Given the description of an element on the screen output the (x, y) to click on. 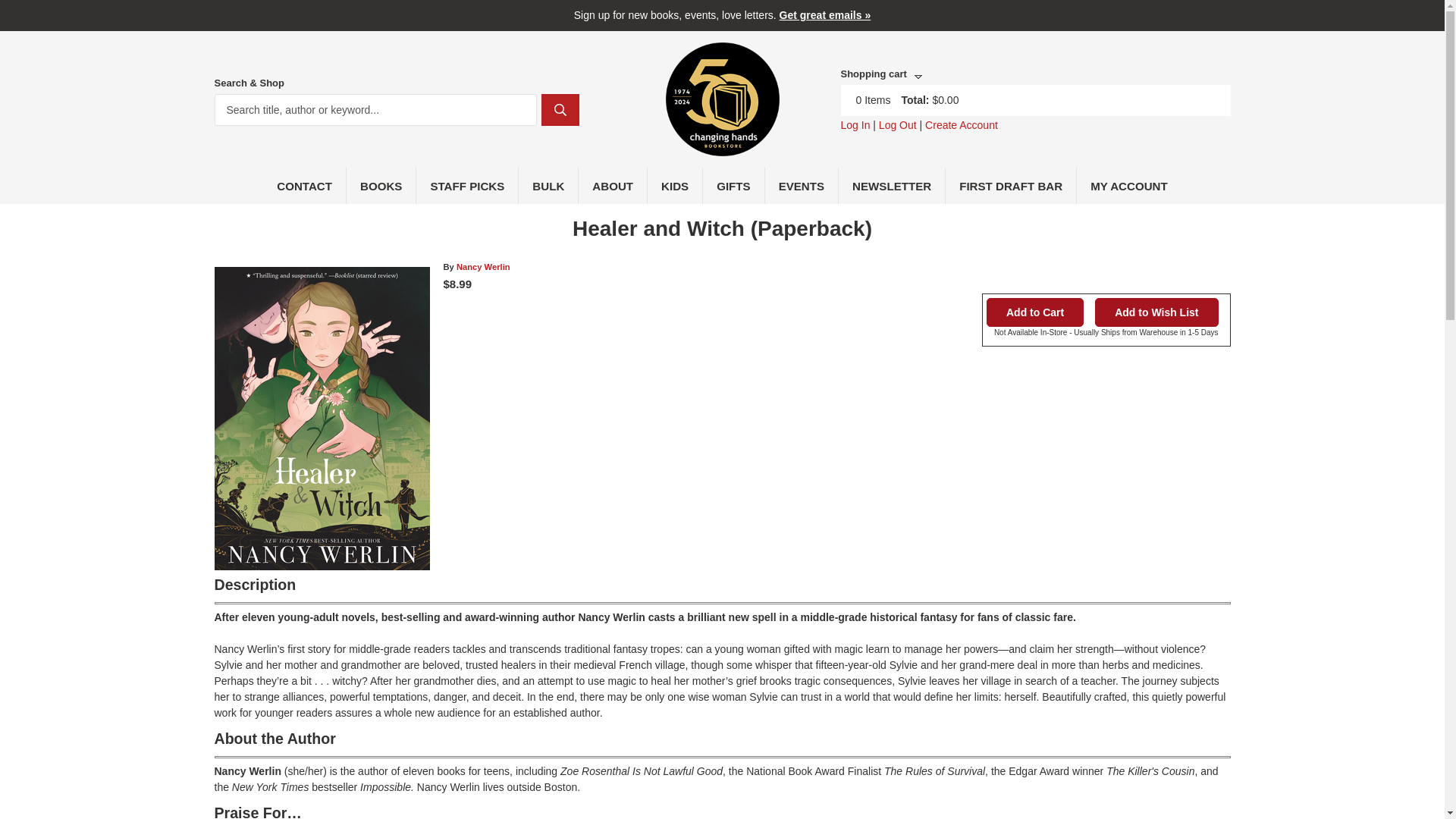
BULK (548, 185)
Home page (721, 147)
Add to Cart (1035, 312)
Log Out (898, 124)
Search (560, 110)
Log In (854, 124)
ABOUT (612, 185)
STAFF PICKS (467, 185)
BOOKS (381, 185)
Create Account (960, 124)
Search (560, 110)
CONTACT (304, 185)
Search title, author or keyword... (374, 110)
